Given the description of an element on the screen output the (x, y) to click on. 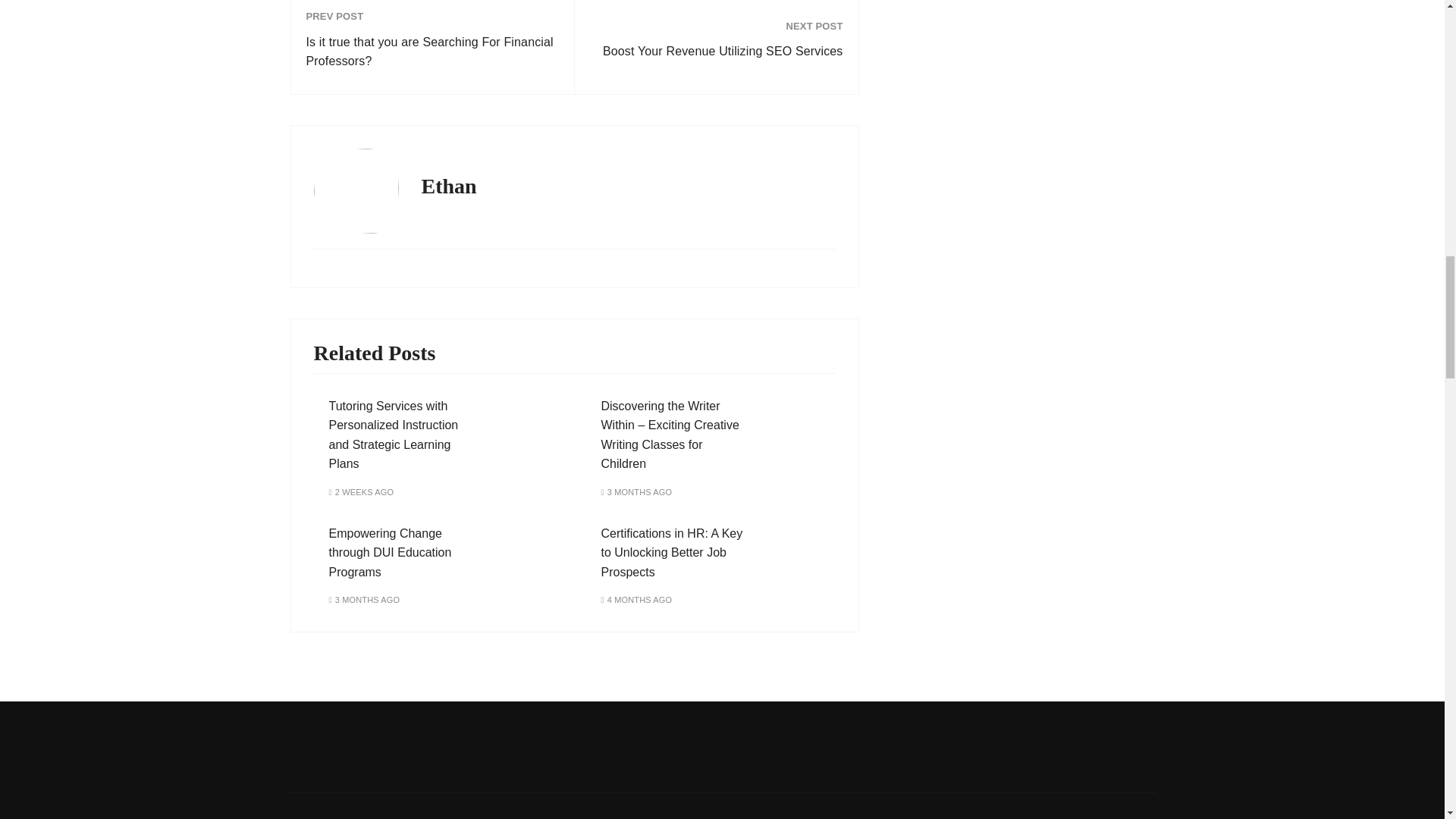
Empowering Change through DUI Education Programs (390, 552)
Boost Your Revenue Utilizing SEO Services (716, 51)
Is it true that you are Searching For Financial Professors? (432, 51)
